Given the description of an element on the screen output the (x, y) to click on. 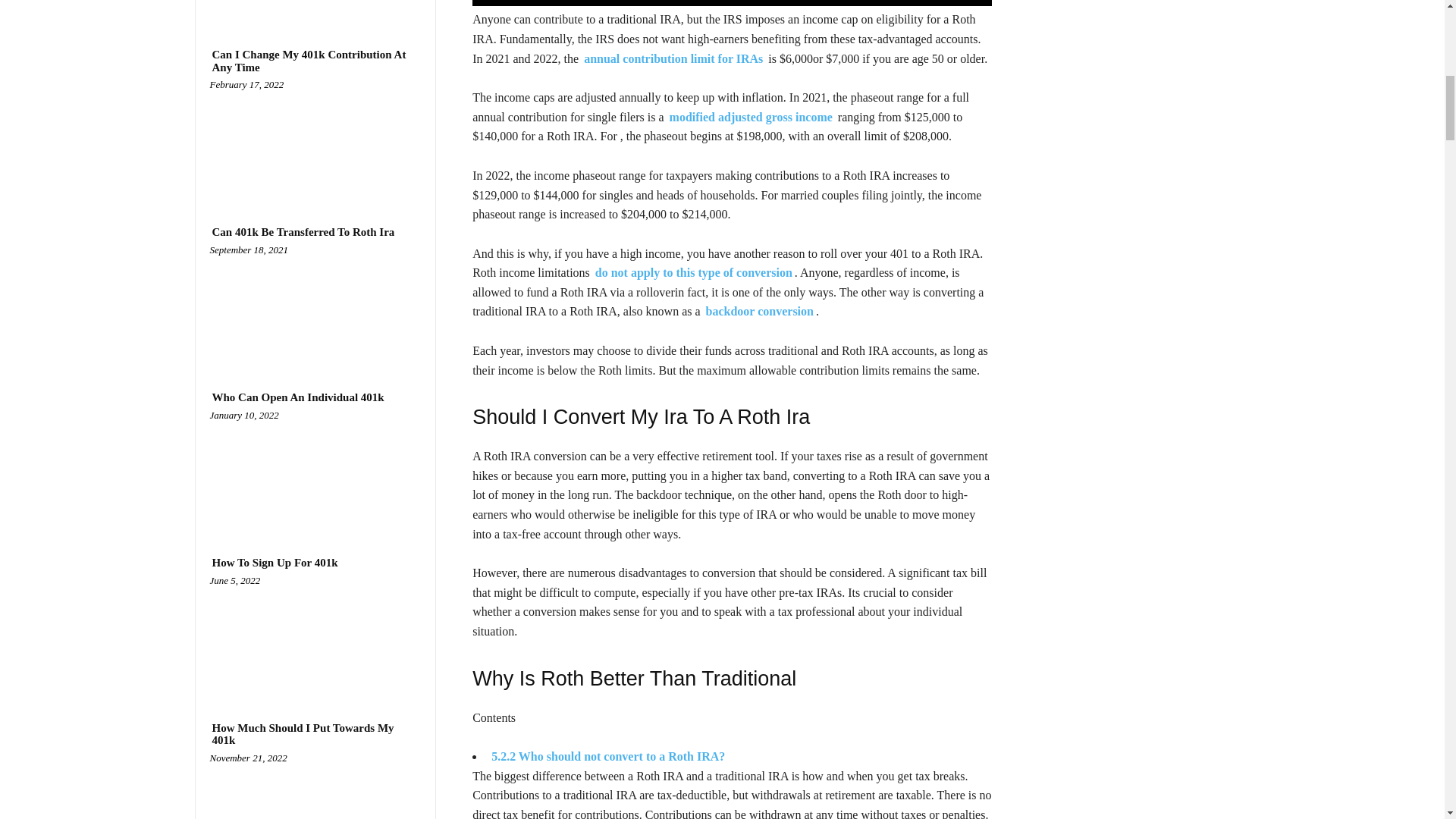
Can I Change My 401k Contribution At Any Time (314, 140)
Who Can Open An Individual 401k (314, 471)
Can 401k Be Transferred To Roth Ira (302, 232)
How To Close A Fidelity 401k Account (314, 7)
Can 401k Be Transferred To Roth Ira (314, 305)
Can I Change My 401k Contribution At Any Time (314, 60)
